Given the description of an element on the screen output the (x, y) to click on. 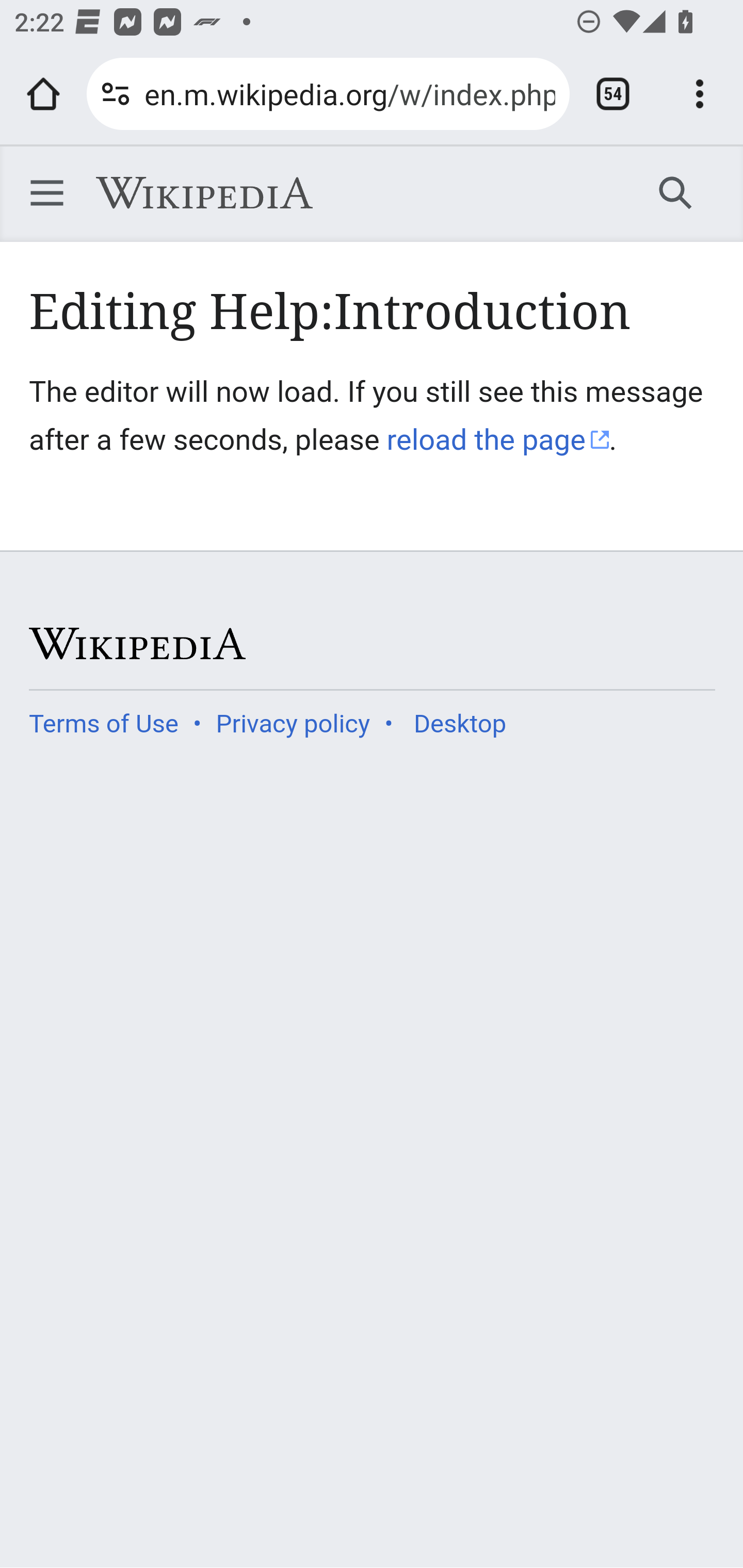
Open the home page (43, 93)
Connection is secure (115, 93)
Switch or close tabs (612, 93)
Customize and control Google Chrome (699, 93)
Search (676, 192)
Wikipedia (203, 192)
reload the page (498, 439)
Terms of Use (104, 723)
Privacy policy (293, 723)
Desktop (459, 723)
